Given the description of an element on the screen output the (x, y) to click on. 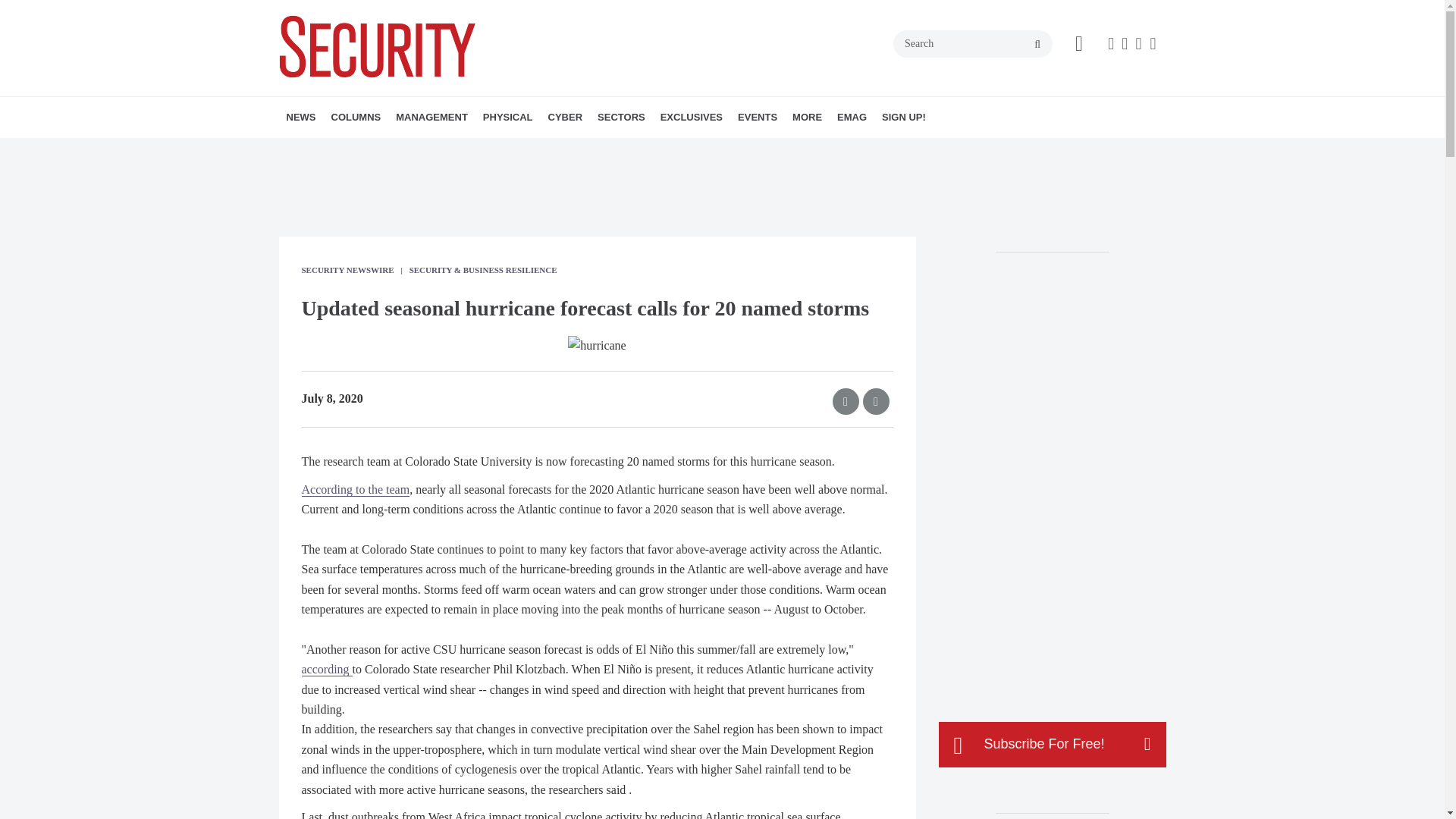
MANAGEMENT (432, 117)
PHYSICAL (508, 117)
CYBERSECURITY NEWS (635, 150)
LEADER TO LEADER (442, 150)
Search (972, 43)
MORE (641, 150)
SECURITY BLOG (386, 150)
SECURITY NEWSWIRE (373, 150)
CAREER INTELLIGENCE (436, 150)
NEWS (301, 117)
CYBER (565, 117)
ACCESS MANAGEMENT (570, 150)
CYBER TACTICS (417, 150)
MORE (504, 150)
Search (972, 43)
